Given the description of an element on the screen output the (x, y) to click on. 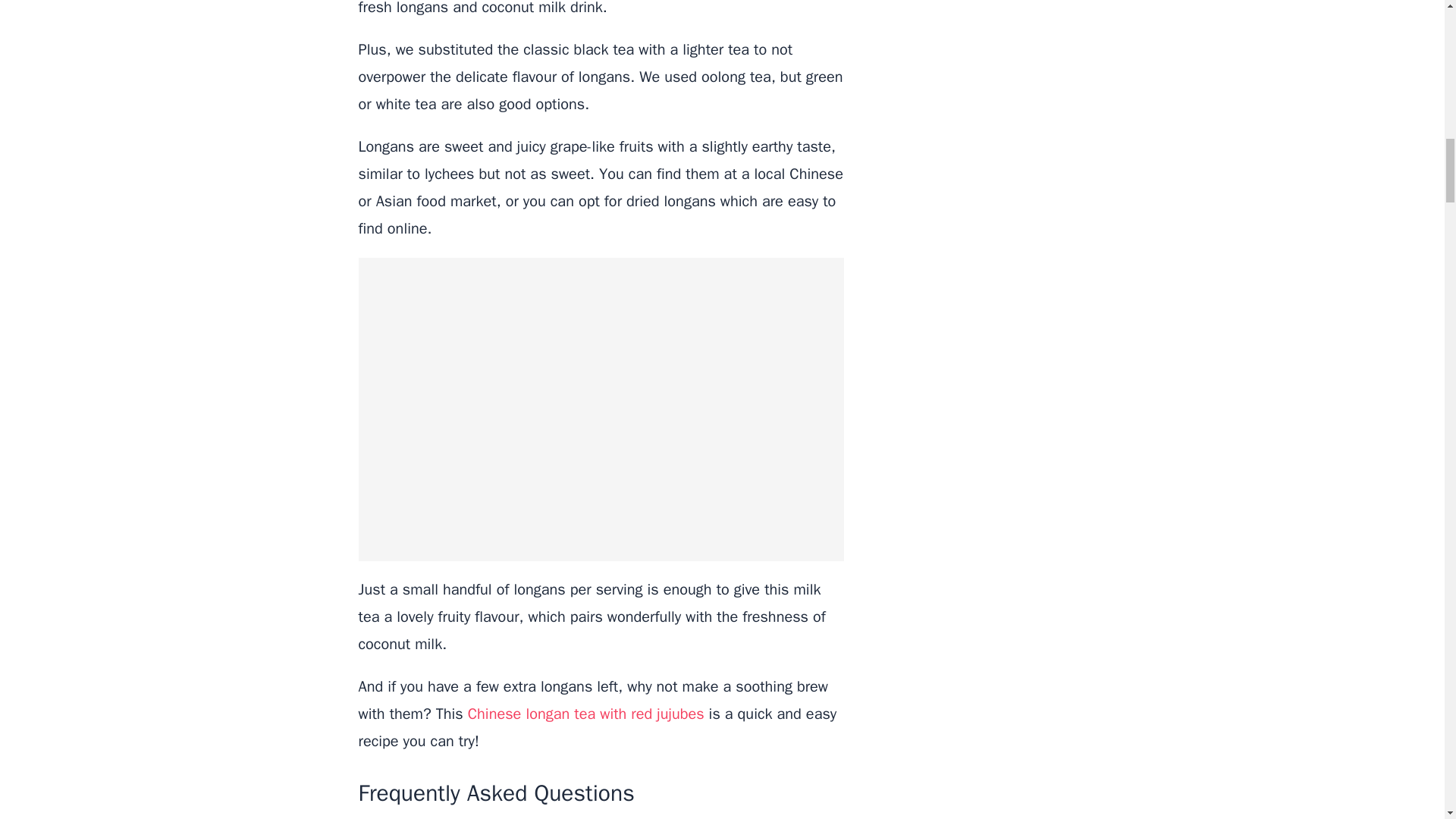
Chinese longan tea with red jujubes (583, 713)
